Given the description of an element on the screen output the (x, y) to click on. 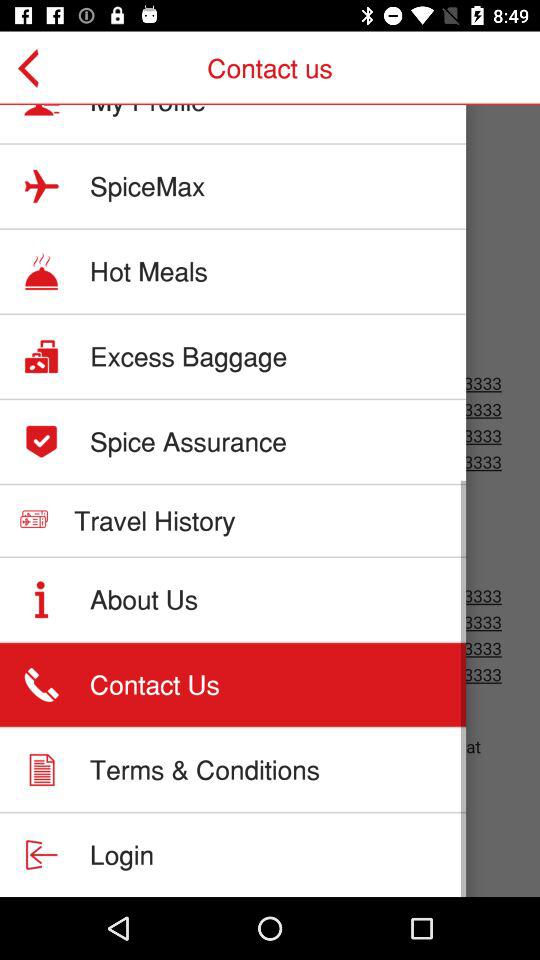
turn off the item below my profile item (147, 186)
